Given the description of an element on the screen output the (x, y) to click on. 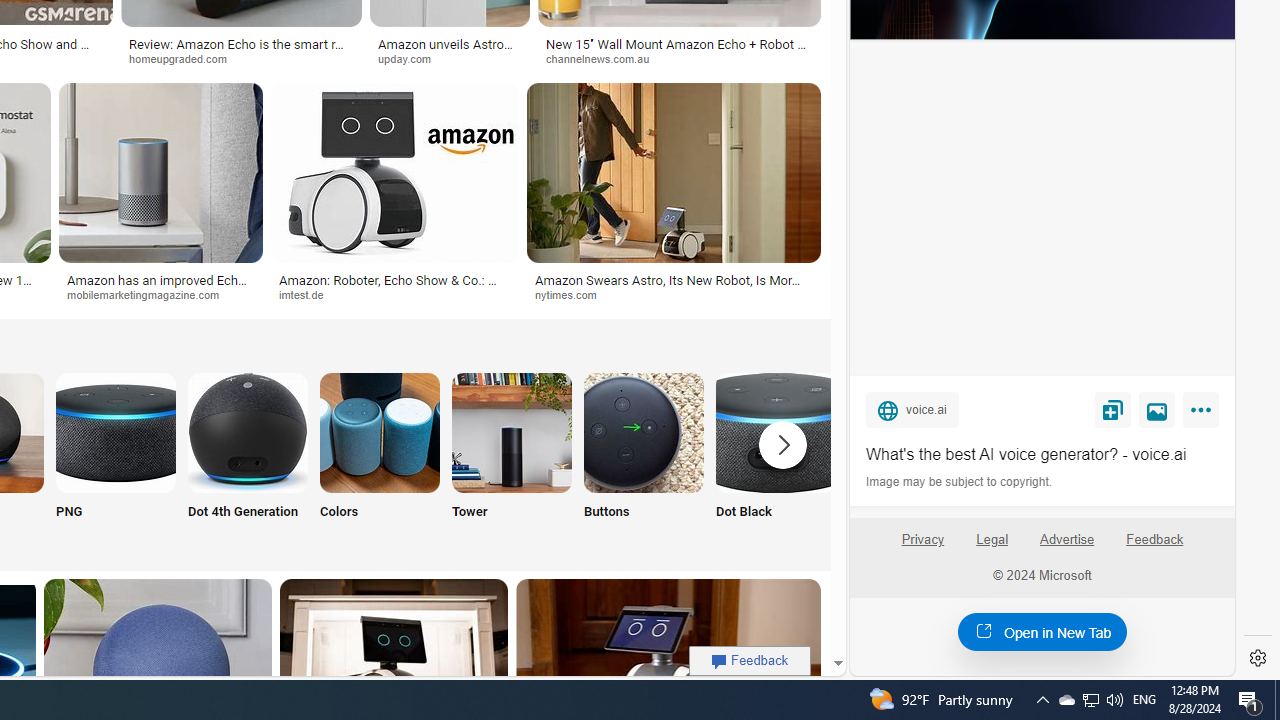
nytimes.com (572, 294)
mobilemarketingmagazine.com (160, 295)
Image may be subject to copyright. (959, 481)
Amazon Echo Colors (380, 432)
Amazon Echo PNG PNG (116, 458)
Amazon Echo Tower Tower (511, 458)
Colors (380, 457)
Privacy (922, 547)
More (1204, 413)
